Given the description of an element on the screen output the (x, y) to click on. 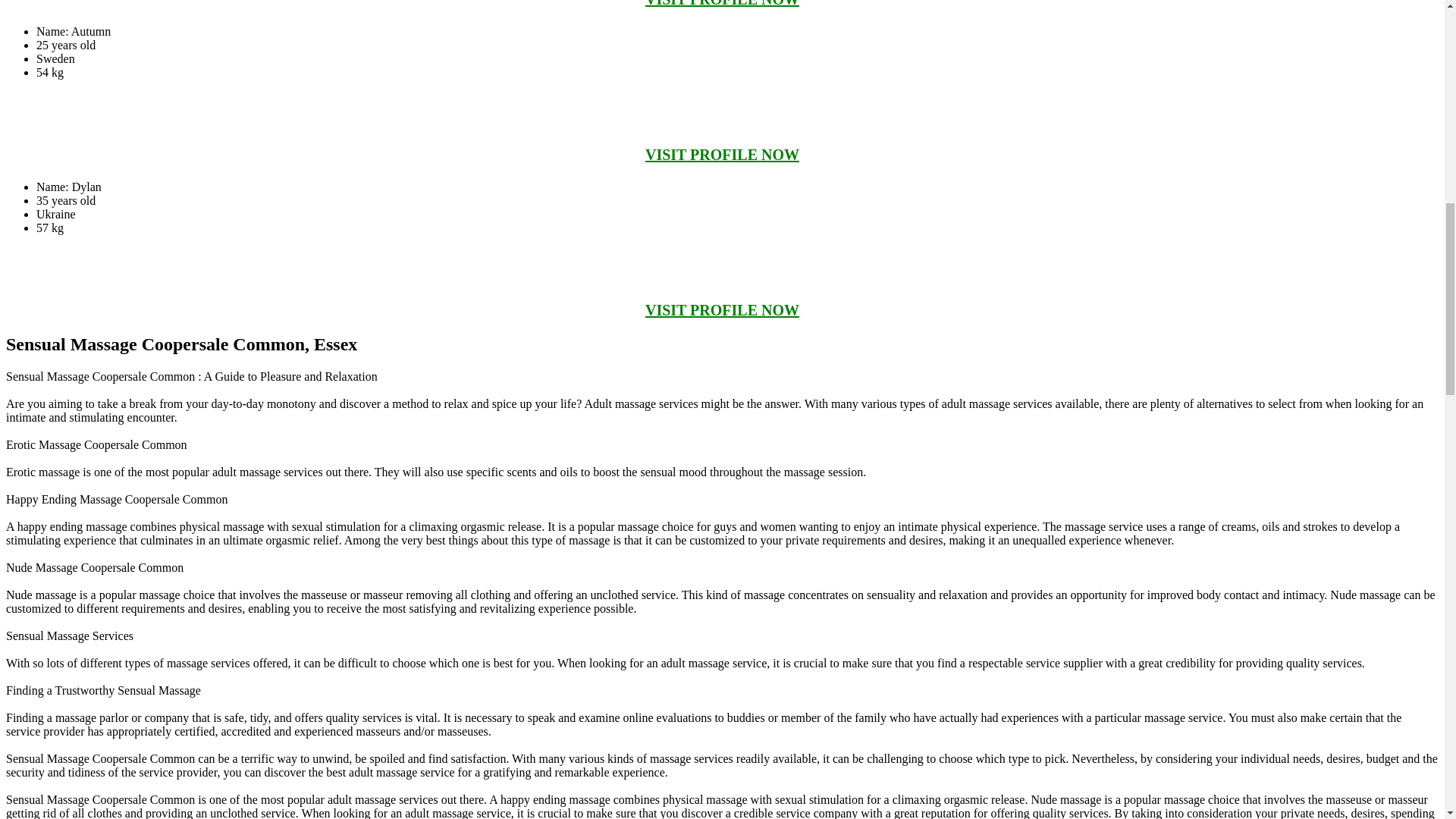
VISIT PROFILE NOW (722, 3)
VISIT PROFILE NOW (722, 154)
VISIT PROFILE NOW (722, 310)
